Given the description of an element on the screen output the (x, y) to click on. 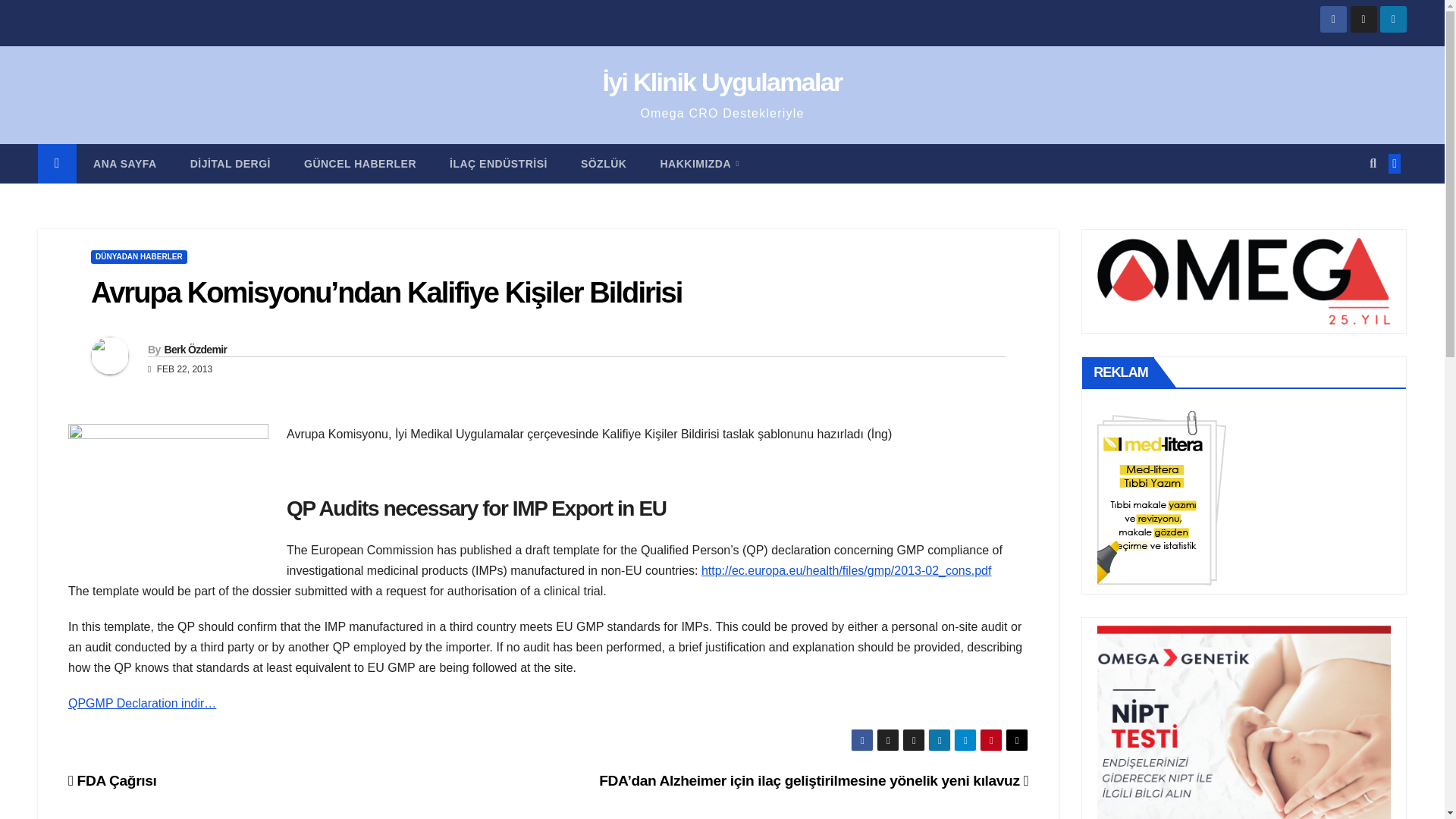
ANA SAYFA (125, 163)
HAKKIMIZDA (699, 163)
Ana Sayfa (125, 163)
